Given the description of an element on the screen output the (x, y) to click on. 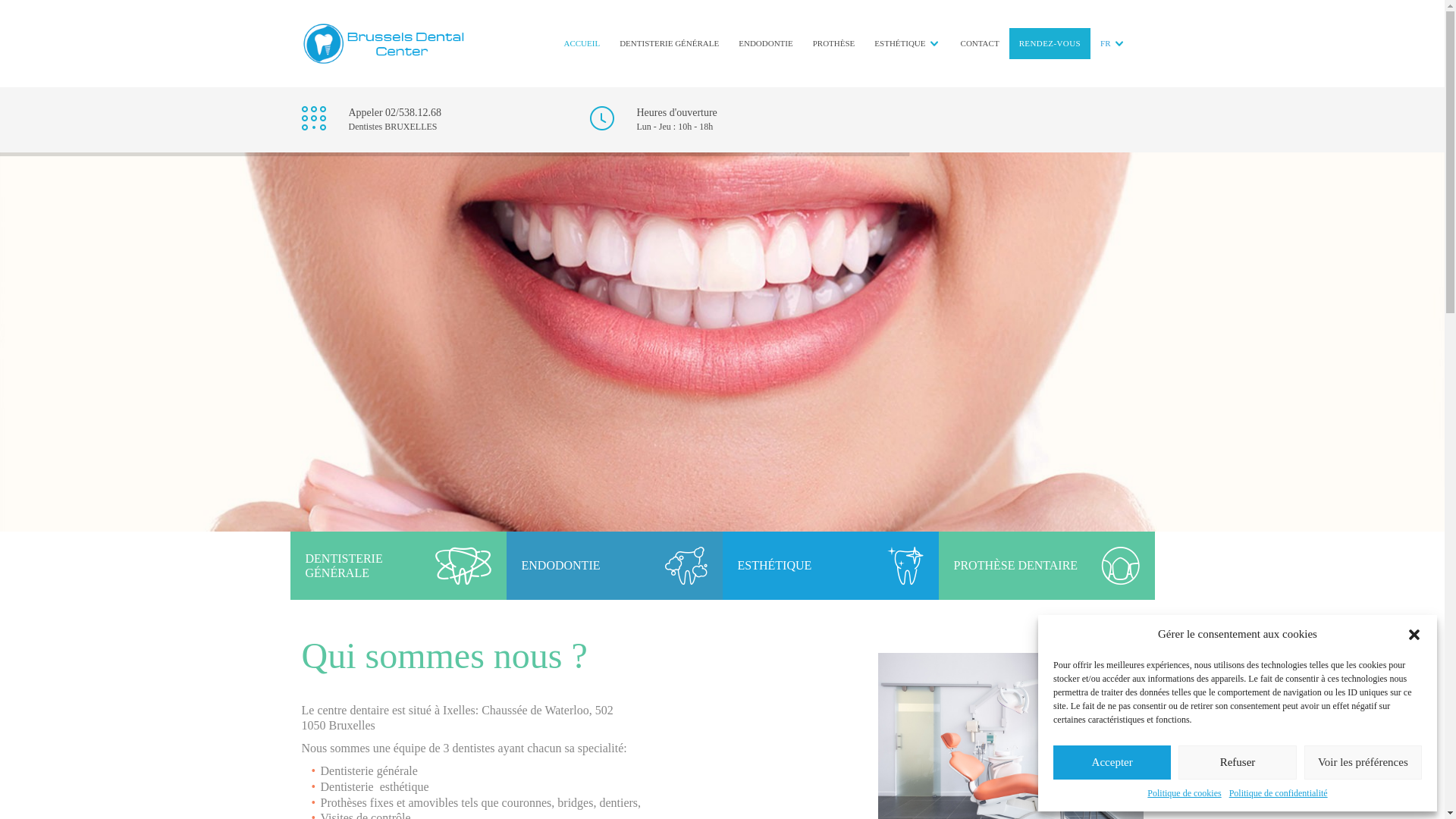
ENDODONTIE Element type: text (765, 43)
FR Element type: text (1105, 43)
Refuser Element type: text (1236, 762)
ACCUEIL Element type: text (581, 43)
Accepter Element type: text (1111, 762)
RENDEZ-VOUS Element type: text (1049, 43)
Politique de cookies Element type: text (1183, 793)
CONTACT Element type: text (979, 43)
